Given the description of an element on the screen output the (x, y) to click on. 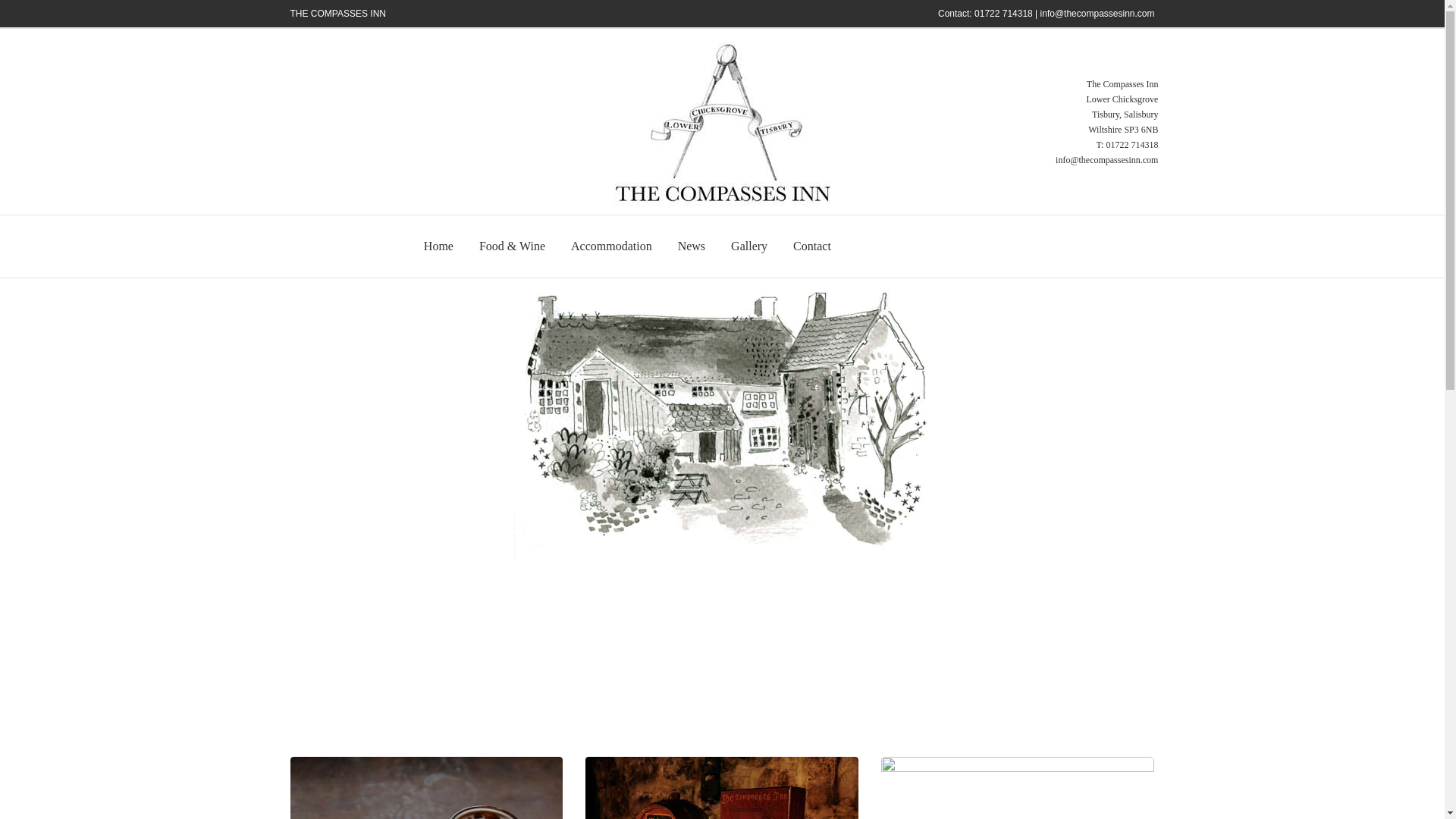
Contact (812, 246)
Accommodation (611, 246)
Gallery (748, 246)
BOOK ROOM (887, 246)
BOOK TABLE (982, 246)
